Given the description of an element on the screen output the (x, y) to click on. 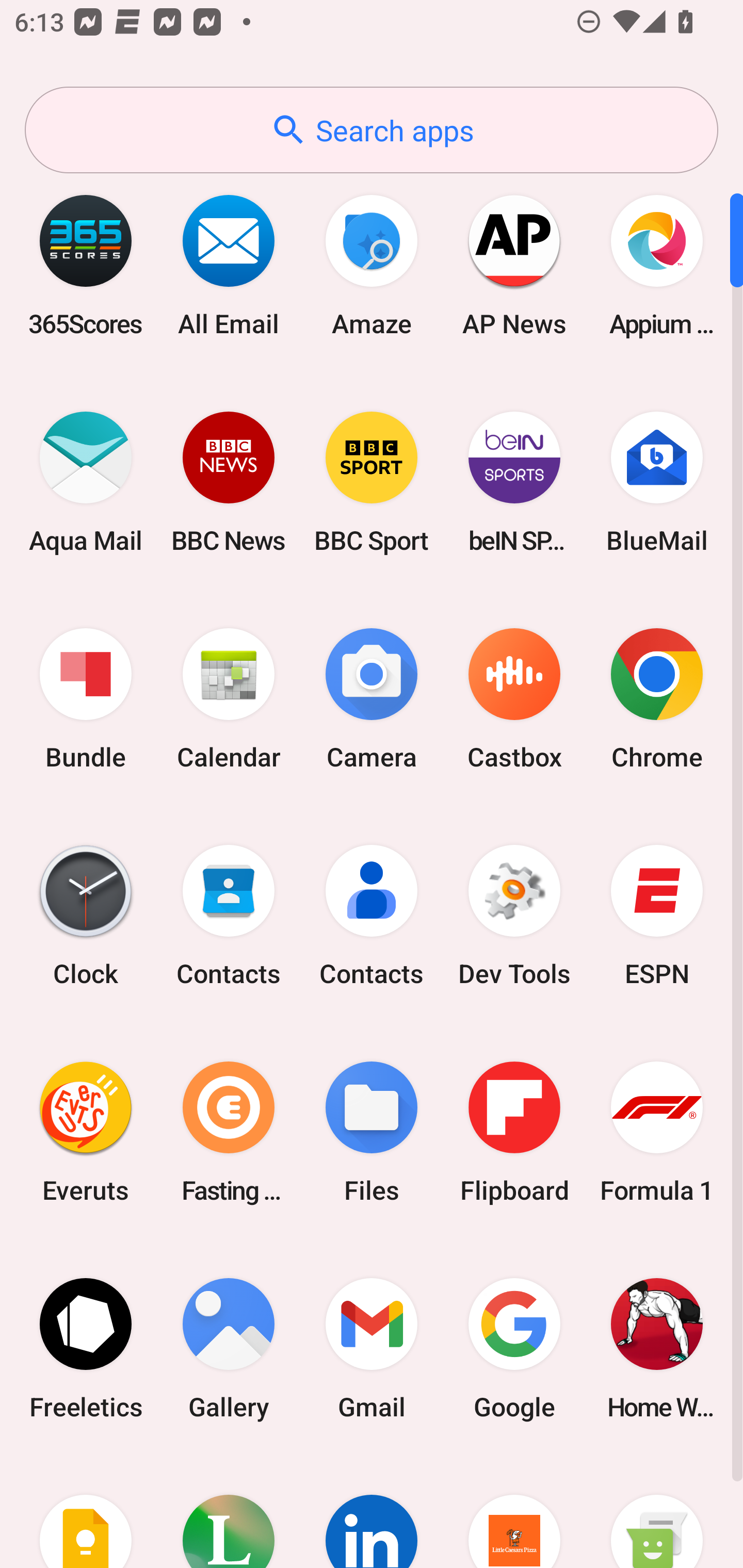
  Search apps (371, 130)
365Scores (85, 264)
All Email (228, 264)
Amaze (371, 264)
AP News (514, 264)
Appium Settings (656, 264)
Aqua Mail (85, 482)
BBC News (228, 482)
BBC Sport (371, 482)
beIN SPORTS (514, 482)
BlueMail (656, 482)
Bundle (85, 699)
Calendar (228, 699)
Camera (371, 699)
Castbox (514, 699)
Chrome (656, 699)
Clock (85, 915)
Contacts (228, 915)
Contacts (371, 915)
Dev Tools (514, 915)
ESPN (656, 915)
Everuts (85, 1131)
Fasting Coach (228, 1131)
Files (371, 1131)
Flipboard (514, 1131)
Formula 1 (656, 1131)
Freeletics (85, 1348)
Gallery (228, 1348)
Gmail (371, 1348)
Google (514, 1348)
Home Workout (656, 1348)
